Given the description of an element on the screen output the (x, y) to click on. 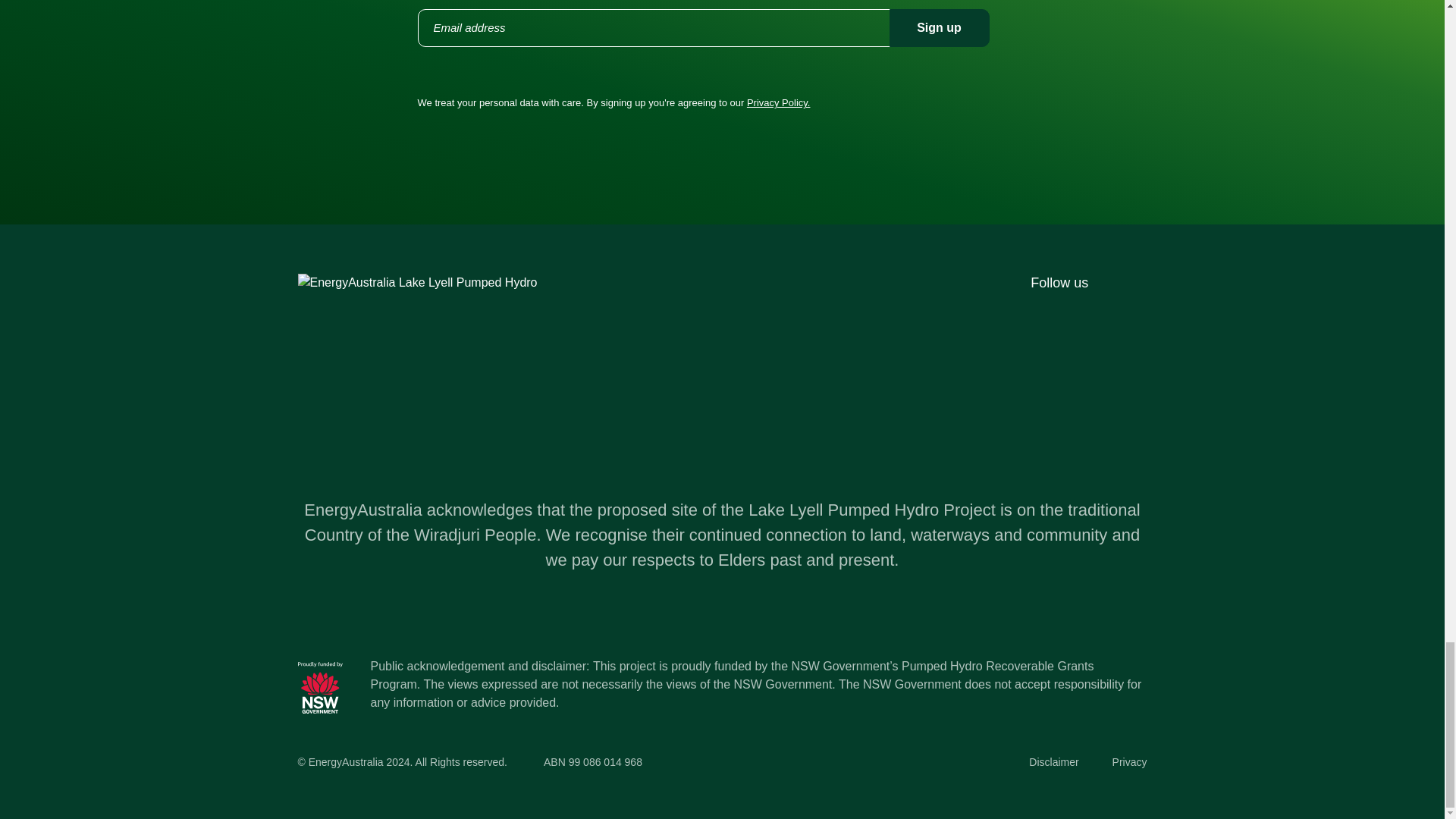
Privacy (1129, 761)
Privacy Policy. (778, 102)
Sign up (938, 27)
Disclaimer (1053, 761)
